Given the description of an element on the screen output the (x, y) to click on. 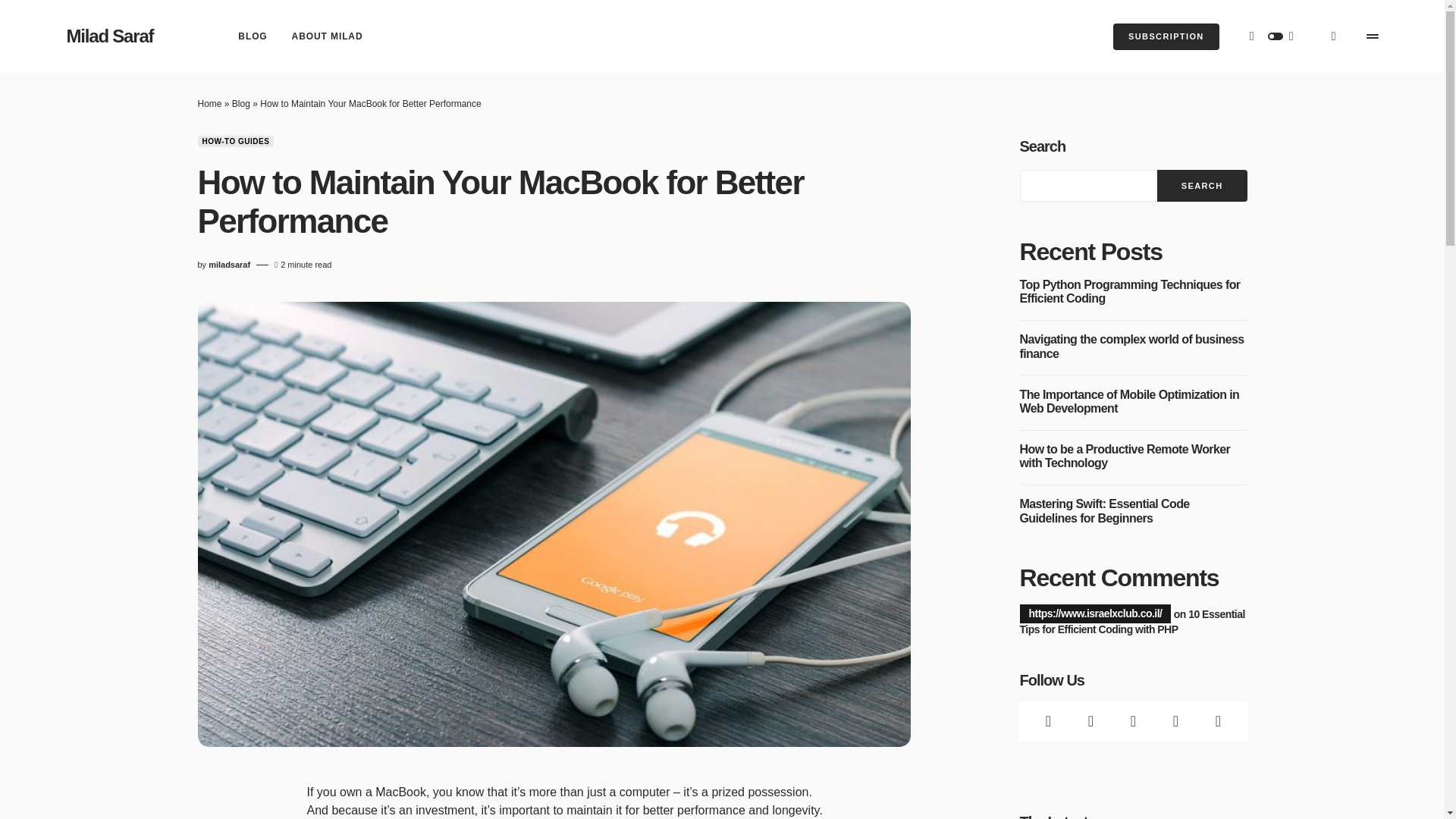
BLOG (252, 36)
SUBSCRIPTION (1166, 35)
View all posts by miladsaraf (229, 264)
Milad Saraf (110, 35)
ABOUT MILAD (327, 36)
